Given the description of an element on the screen output the (x, y) to click on. 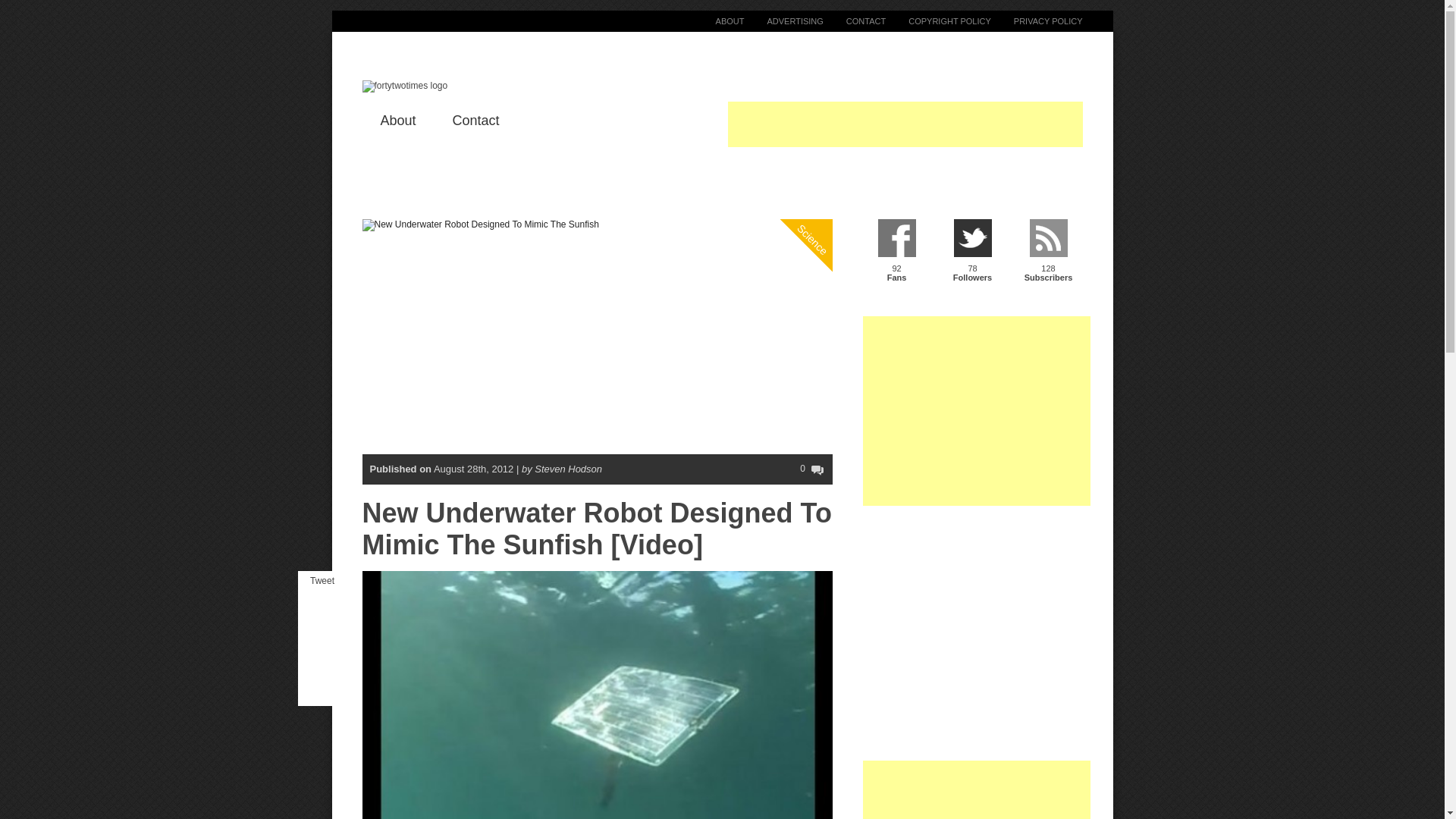
Science (828, 177)
PRIVACY POLICY (1037, 20)
ADVERTISING (783, 20)
ABOUT (897, 260)
Follow on Twitter (718, 20)
COPYRIGHT POLICY (1048, 260)
Like on Facebook (973, 260)
Subscribe to Feed (938, 20)
About (973, 260)
CONTACT (897, 260)
Tweet (1048, 260)
Contact (397, 120)
